Given the description of an element on the screen output the (x, y) to click on. 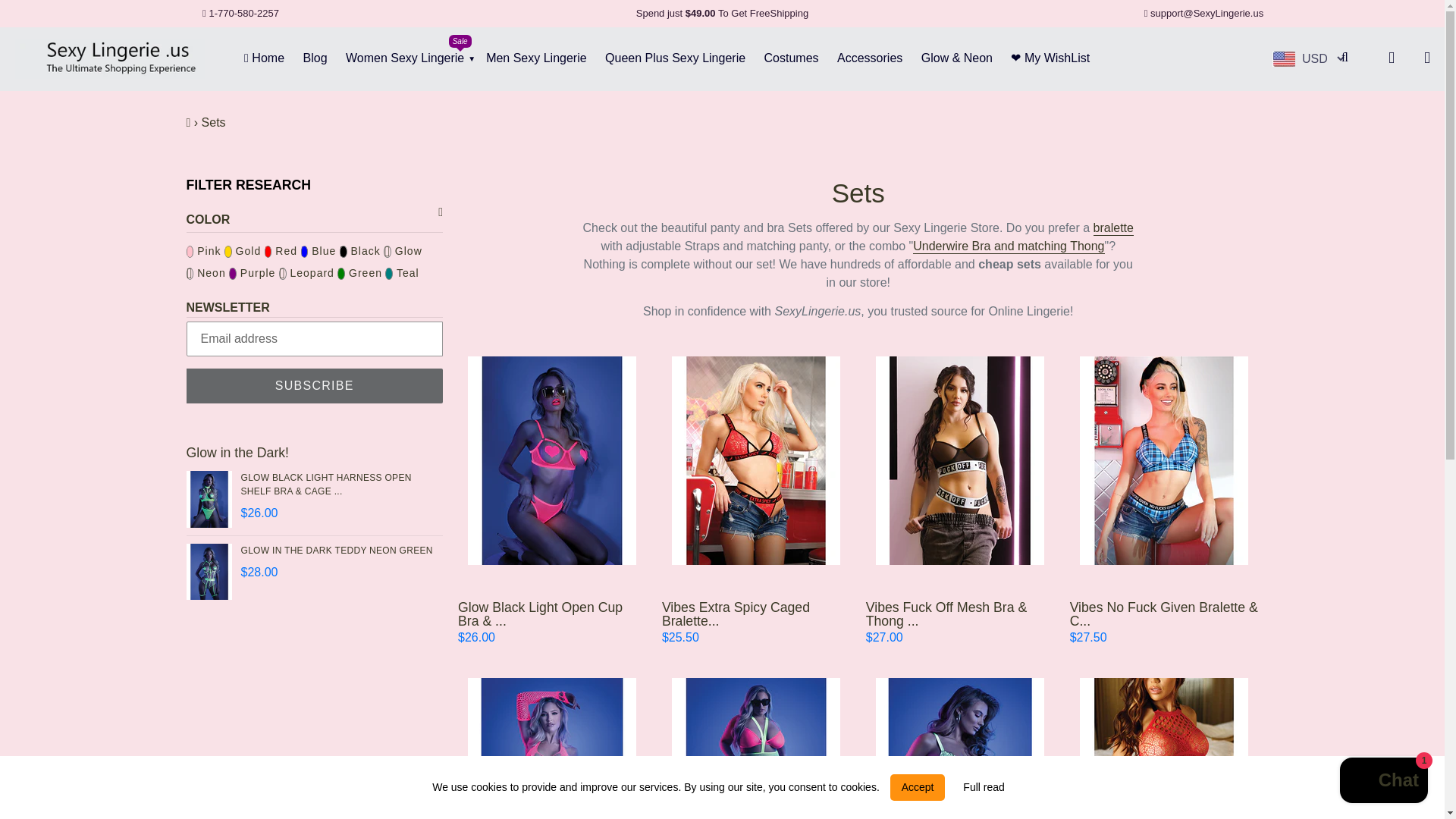
Log in (1387, 58)
Accessories (869, 58)
Costumes (792, 58)
Home (263, 58)
Home (263, 58)
Blog (314, 58)
Women Sexy Lingerie (404, 57)
Submit (1351, 58)
Queen Plus Sexy Lingerie (674, 58)
Cart (1423, 58)
1-770-580-2257 (240, 13)
Blog (314, 58)
Men Sexy Lingerie (536, 58)
Men Sexy Lingerie (536, 58)
Accessories (869, 58)
